Given the description of an element on the screen output the (x, y) to click on. 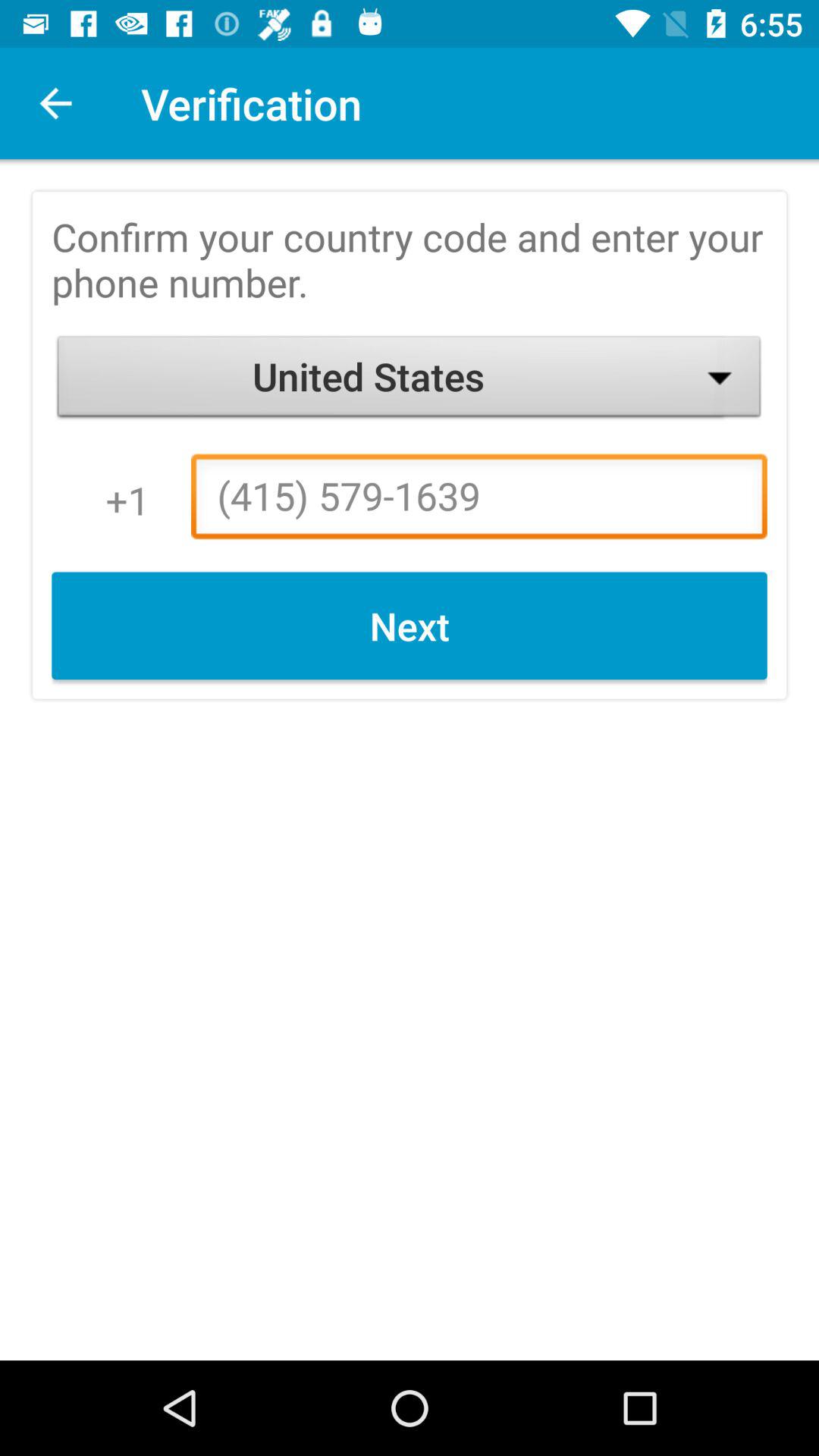
turn on united states icon (409, 380)
